Given the description of an element on the screen output the (x, y) to click on. 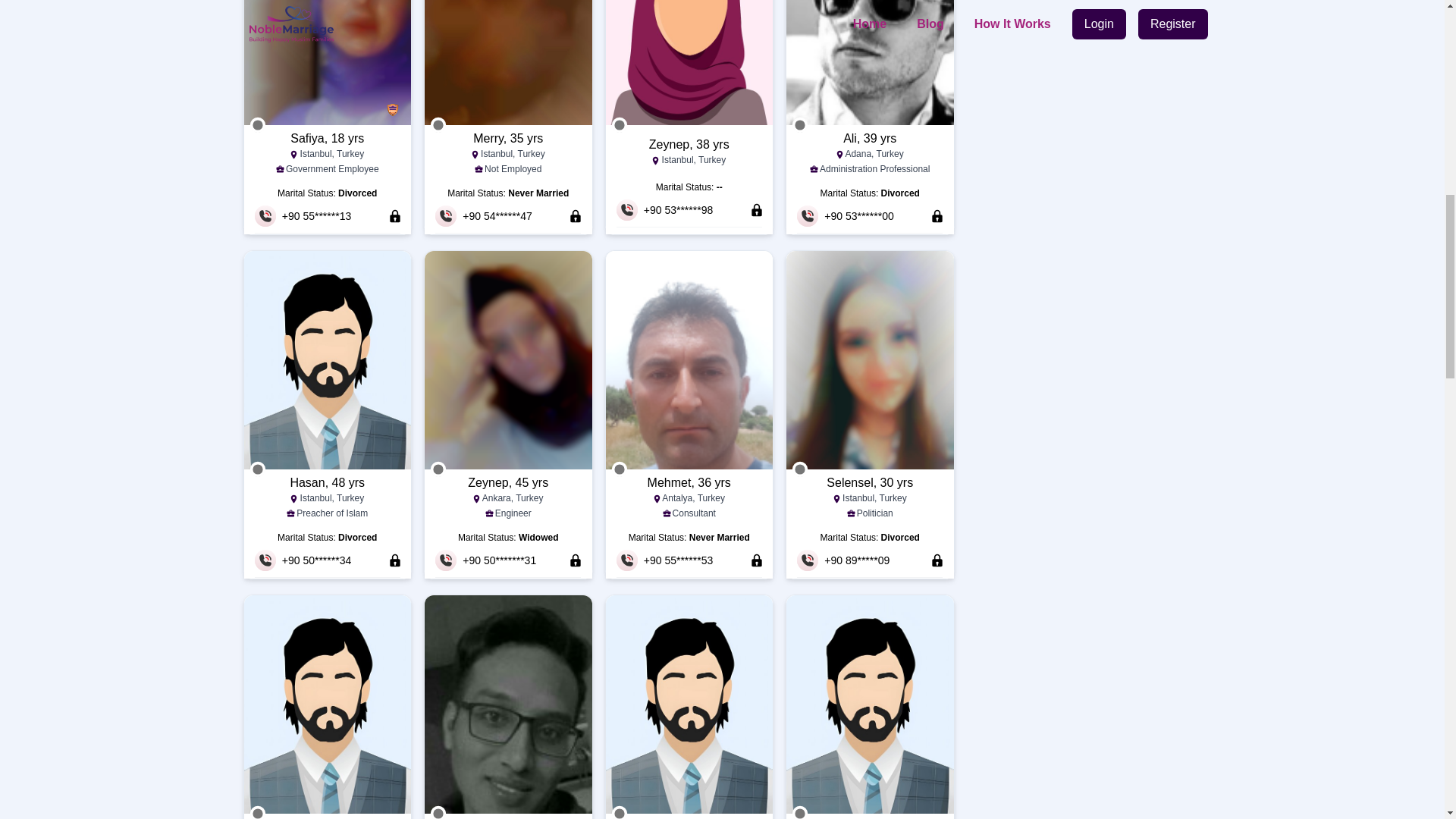
Offline: Chat to connect. (257, 469)
Offline: Chat to connect. (257, 125)
Merry, 35 yrs (507, 138)
Istanbul, Turkey (327, 499)
Safiya, 18 yrs (327, 138)
Offline: Chat to connect. (437, 125)
Istanbul, Turkey (507, 155)
Offline: Chat to connect. (437, 469)
Ali, 39 yrs (869, 138)
Hasan, 48 yrs (327, 483)
Ankara, Turkey (507, 499)
Offline: Chat to connect. (799, 125)
Zeynep, 38 yrs (688, 144)
Offline: Chat to connect. (618, 125)
Istanbul, Turkey (688, 160)
